Given the description of an element on the screen output the (x, y) to click on. 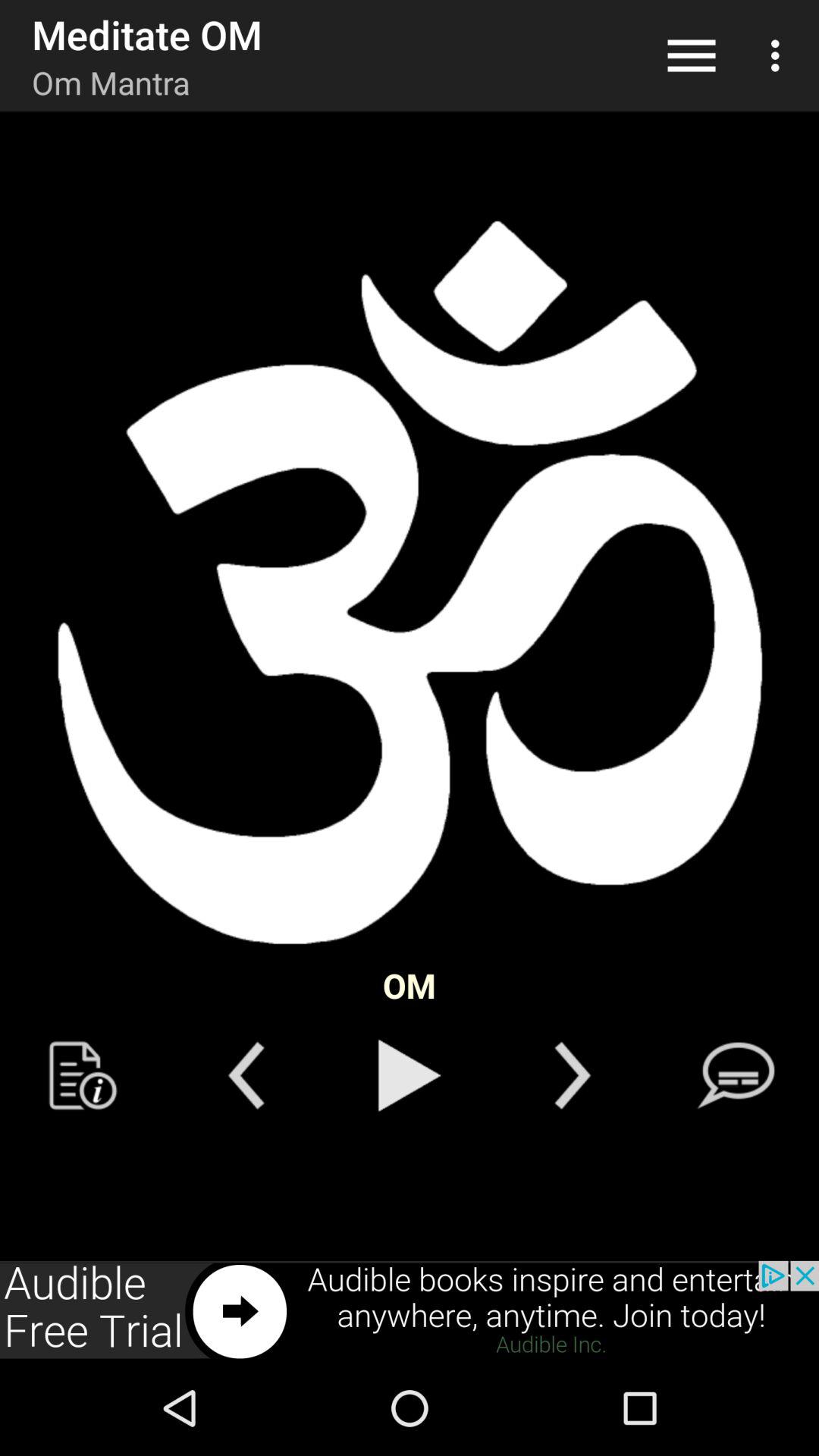
message box (735, 1075)
